Given the description of an element on the screen output the (x, y) to click on. 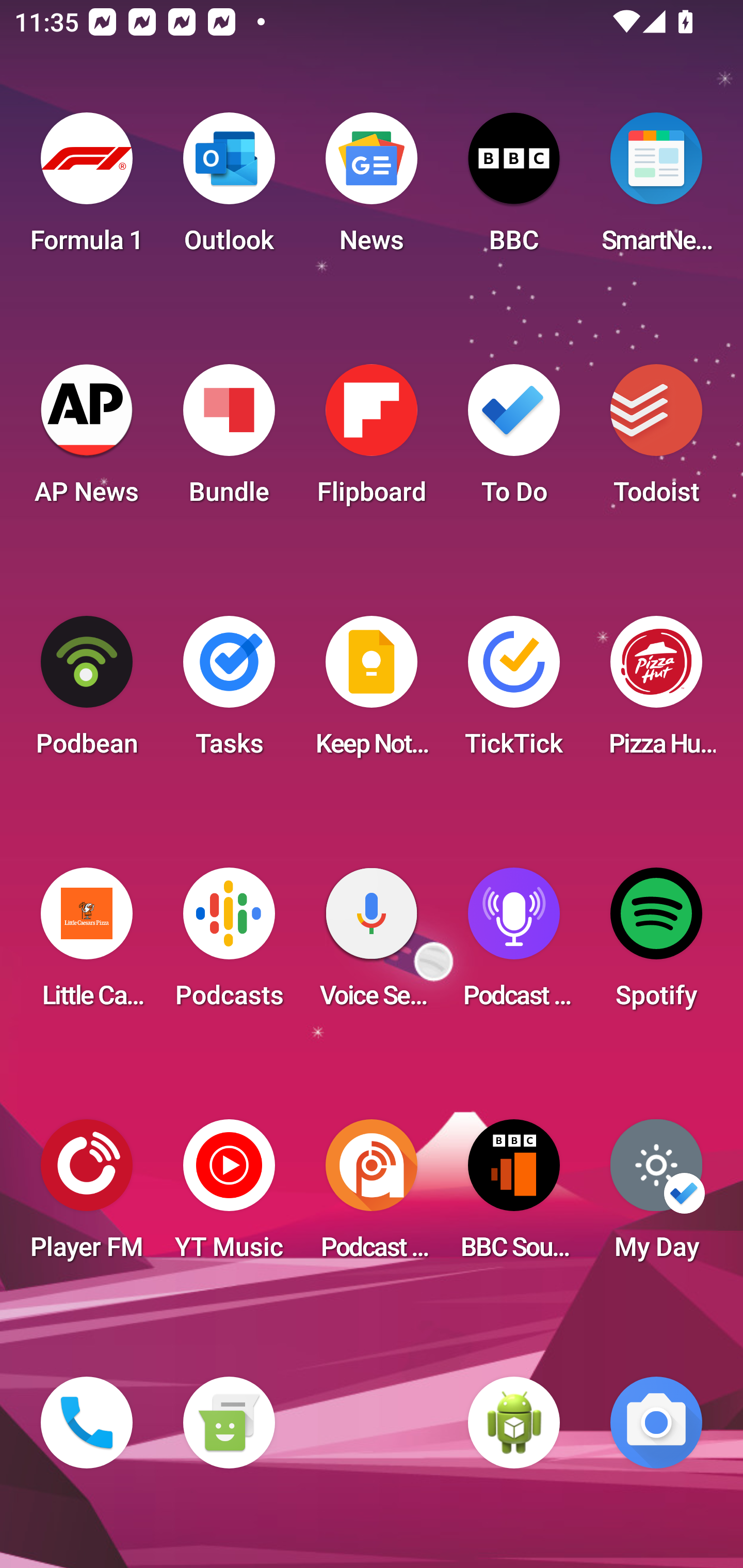
Formula 1 (86, 188)
Outlook (228, 188)
News (371, 188)
BBC (513, 188)
SmartNews (656, 188)
AP News (86, 440)
Bundle (228, 440)
Flipboard (371, 440)
To Do (513, 440)
Todoist (656, 440)
Podbean (86, 692)
Tasks (228, 692)
Keep Notes (371, 692)
TickTick (513, 692)
Pizza Hut HK & Macau (656, 692)
Little Caesars Pizza (86, 943)
Podcasts (228, 943)
Voice Search (371, 943)
Podcast Player (513, 943)
Spotify (656, 943)
Player FM (86, 1195)
YT Music (228, 1195)
Podcast Addict (371, 1195)
BBC Sounds (513, 1195)
My Day (656, 1195)
Phone (86, 1422)
Messaging (228, 1422)
WebView Browser Tester (513, 1422)
Camera (656, 1422)
